Given the description of an element on the screen output the (x, y) to click on. 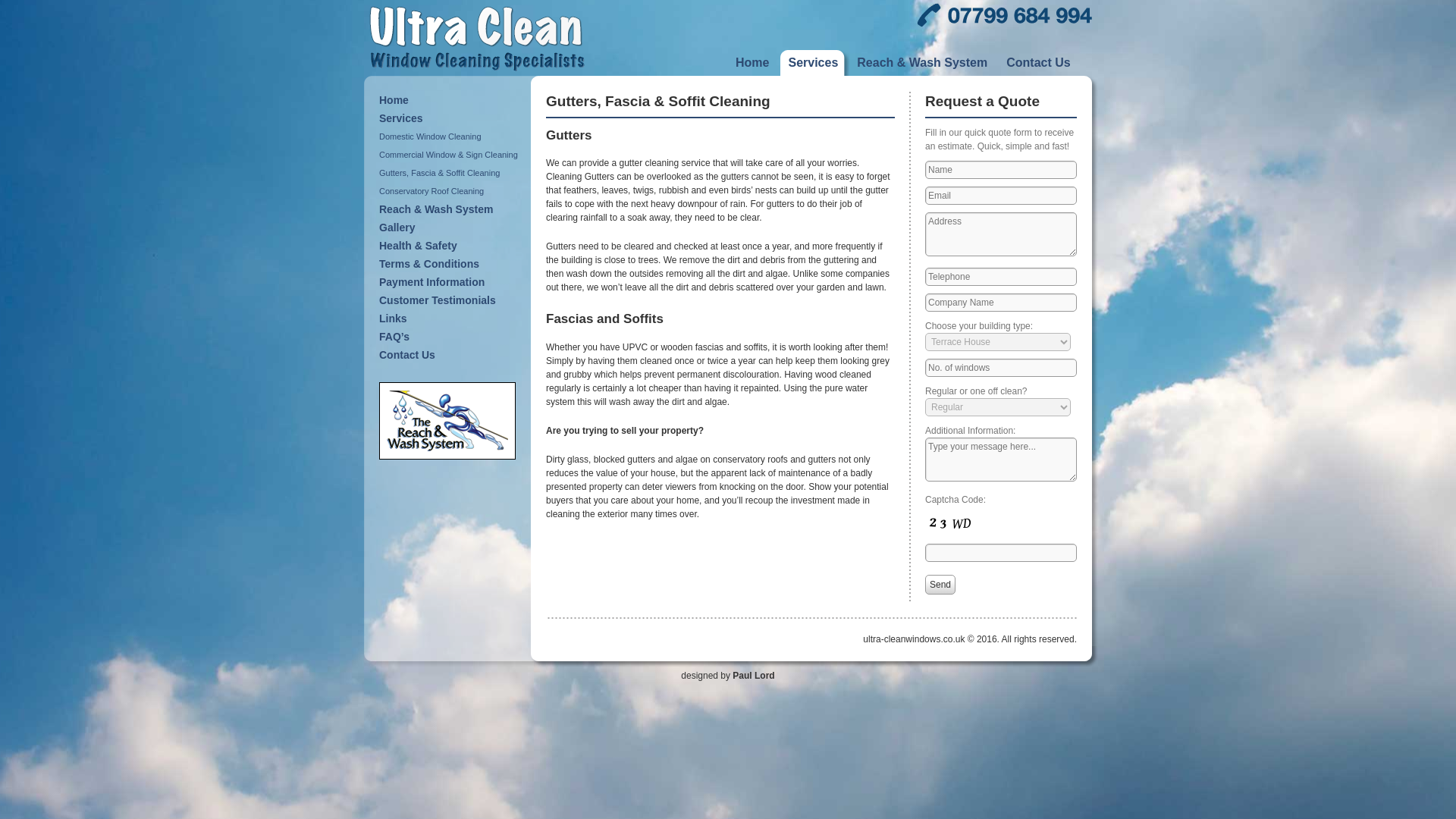
Contact Us (1043, 62)
Customer Testimonials (450, 300)
Payment Information (450, 281)
Home (757, 62)
Gallery (450, 227)
Send (939, 584)
Services (450, 117)
Home (450, 99)
Conservatory Roof Cleaning (450, 190)
Contact Us (450, 354)
Links (450, 318)
Domestic Window Cleaning (450, 136)
Send (939, 584)
Services (817, 62)
